Given the description of an element on the screen output the (x, y) to click on. 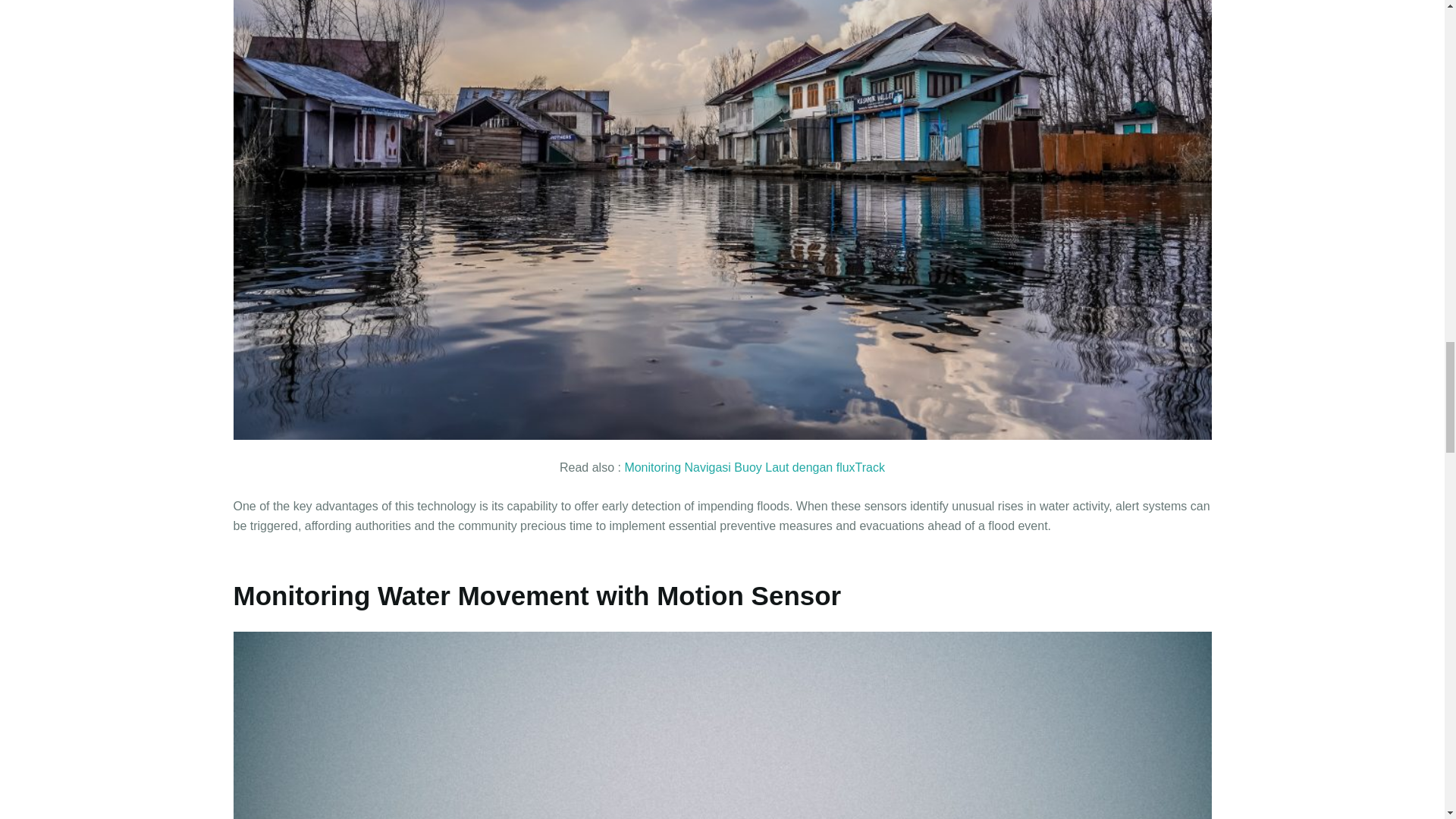
Monitoring Navigasi Buoy Laut dengan fluxTrack (754, 467)
